Given the description of an element on the screen output the (x, y) to click on. 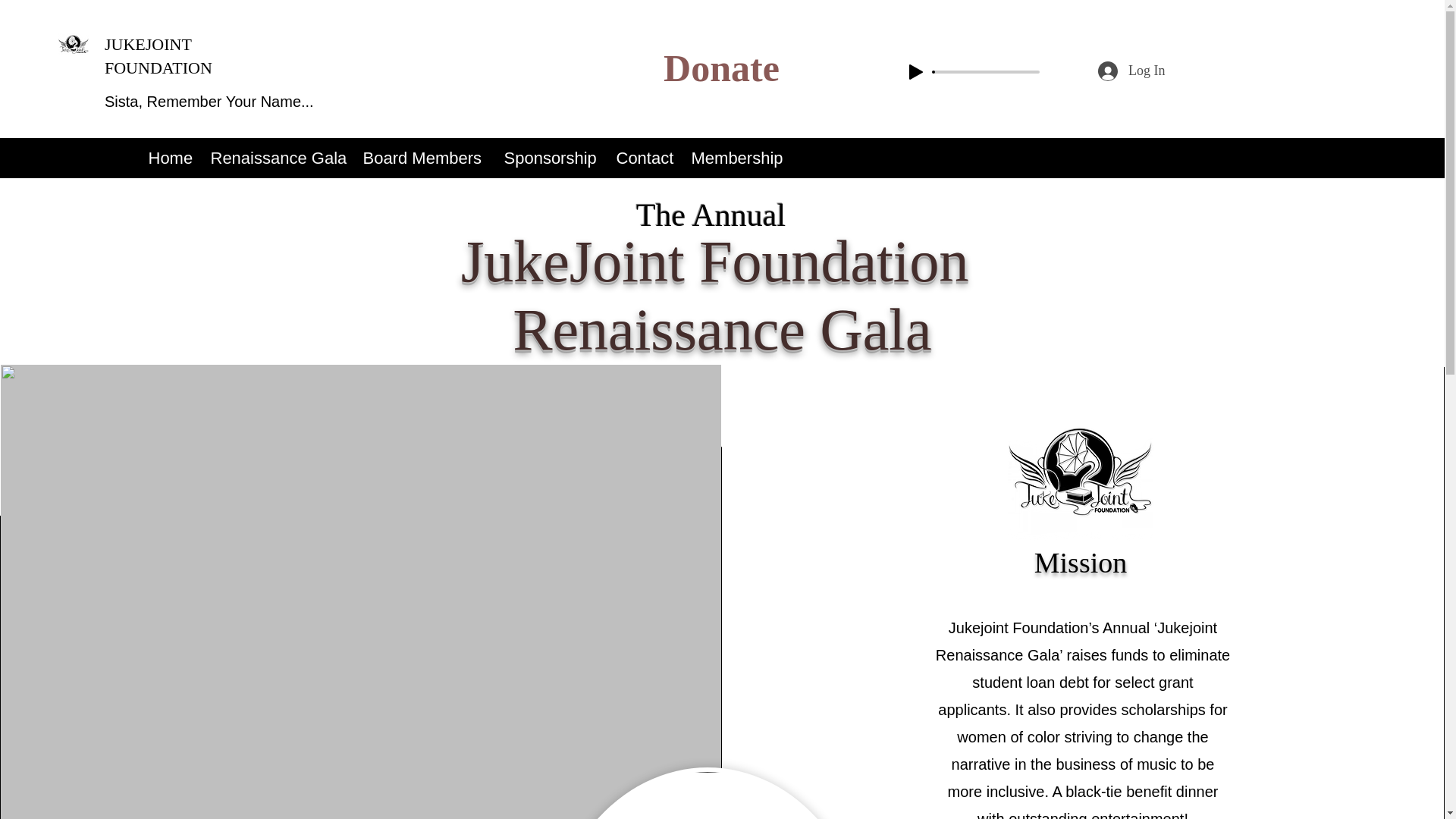
Renaissance Gala (279, 157)
Contact (645, 157)
Board Members (425, 157)
JUKEJOINT FOUNDATION (158, 55)
Log In (1131, 70)
Donate (720, 67)
Membership (740, 157)
0 (986, 71)
Home (172, 157)
Sponsorship (552, 157)
